Given the description of an element on the screen output the (x, y) to click on. 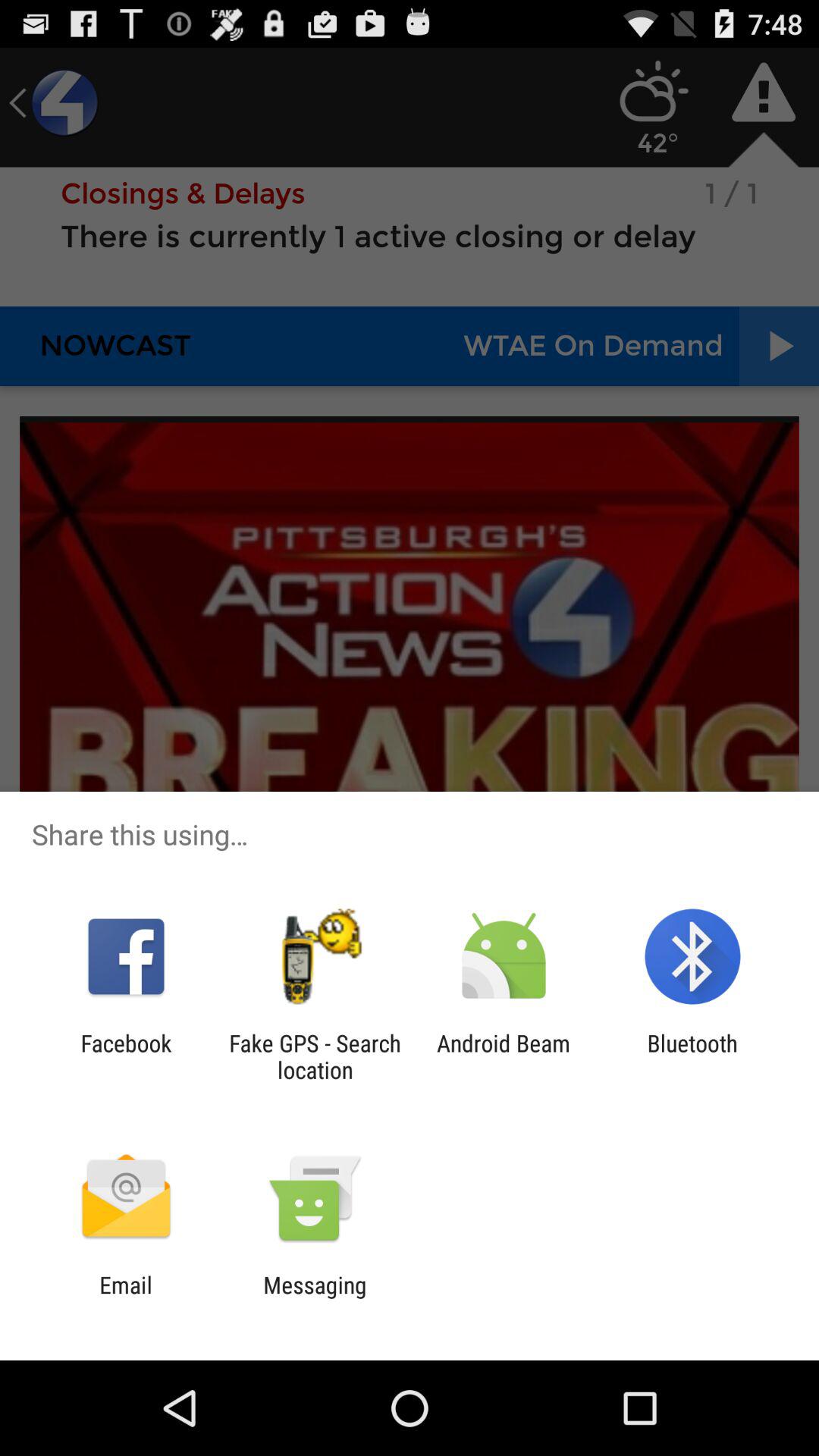
turn on the item next to fake gps search icon (125, 1056)
